Given the description of an element on the screen output the (x, y) to click on. 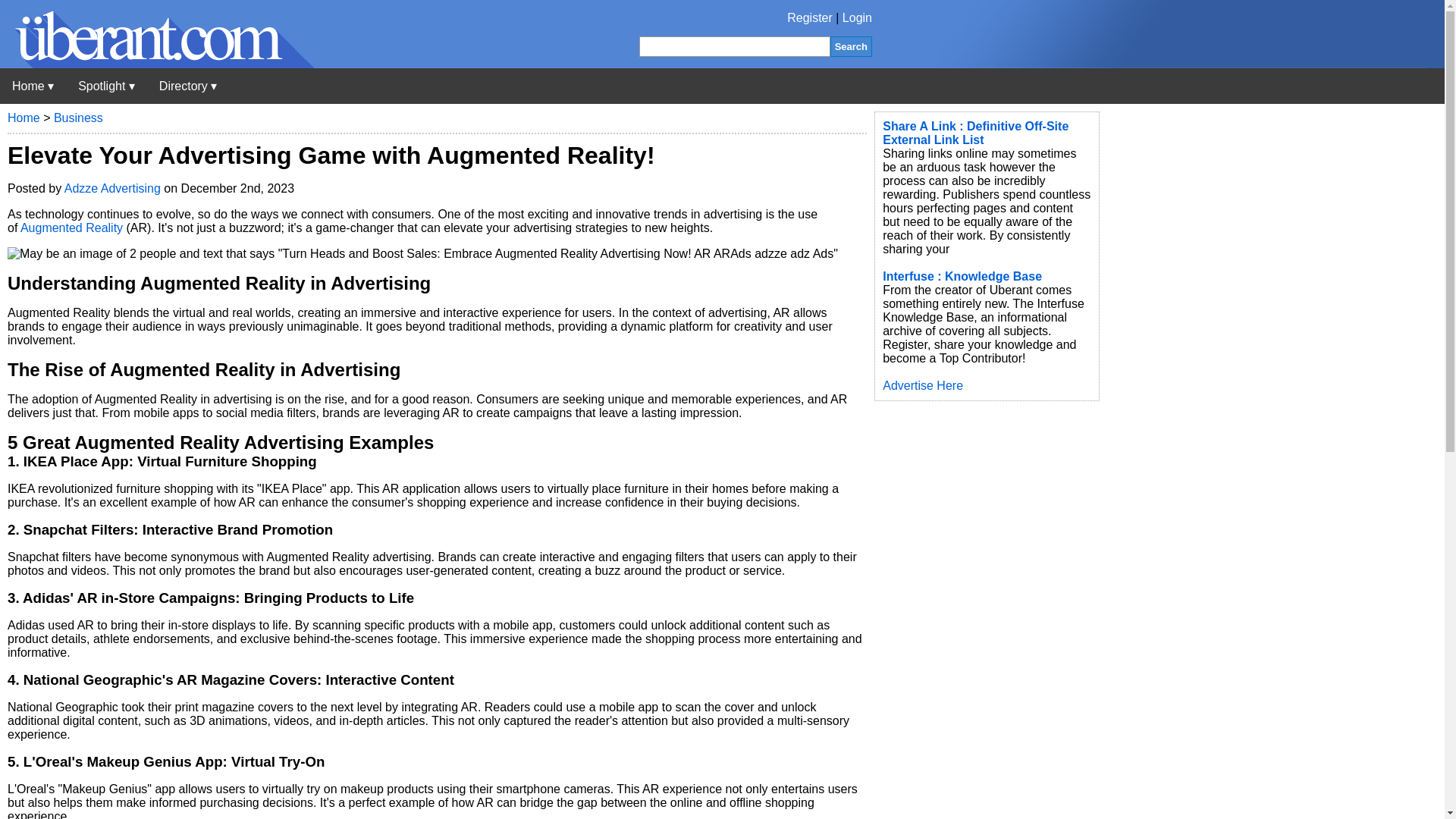
Search (850, 46)
Search (850, 46)
Login (857, 17)
Uberant (157, 63)
Register (809, 17)
Uberant (32, 85)
